Given the description of an element on the screen output the (x, y) to click on. 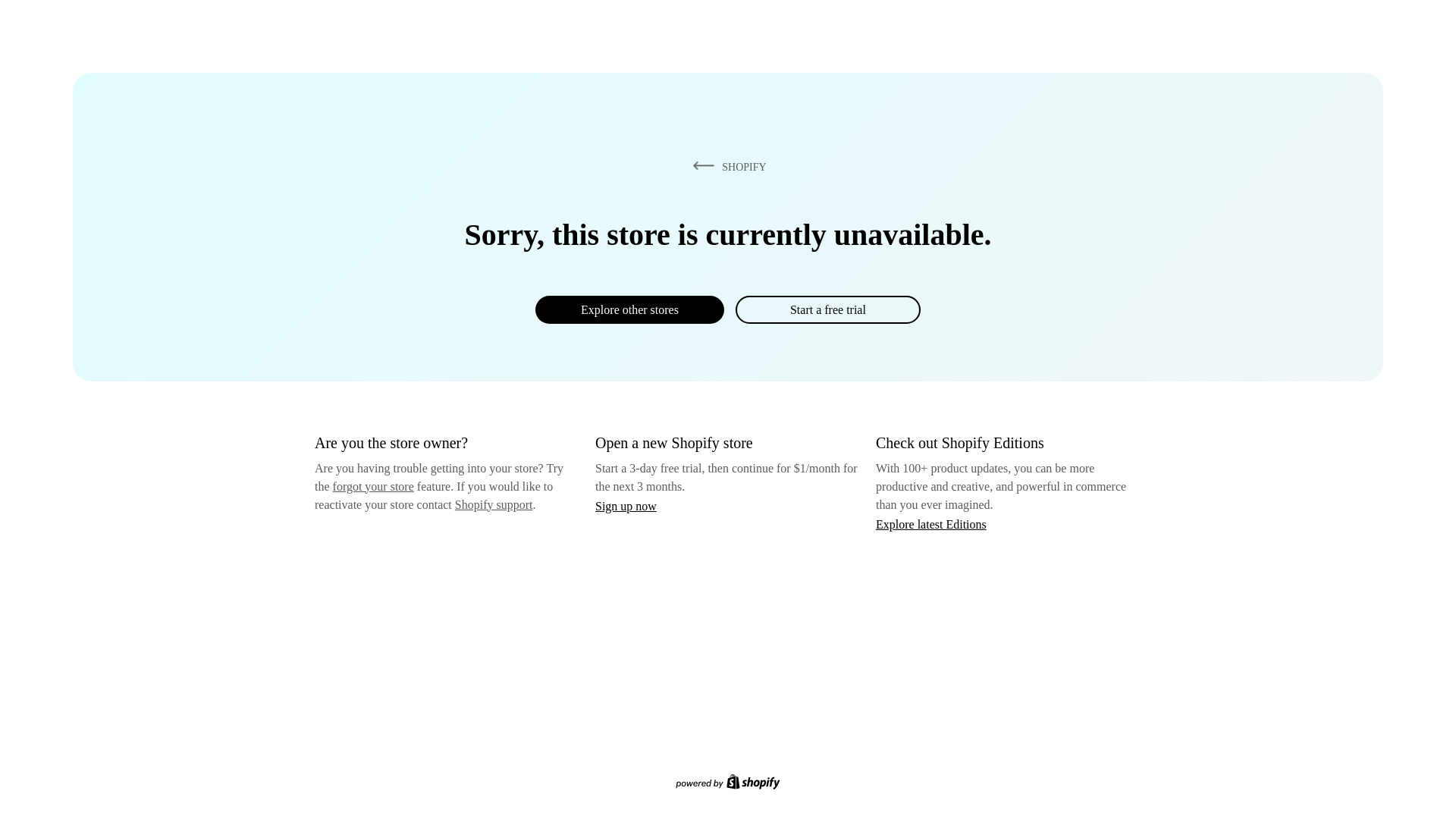
SHOPIFY (726, 166)
Explore other stores (629, 309)
Start a free trial (827, 309)
Explore latest Editions (931, 523)
Sign up now (625, 505)
forgot your store (373, 486)
Shopify support (493, 504)
